Given the description of an element on the screen output the (x, y) to click on. 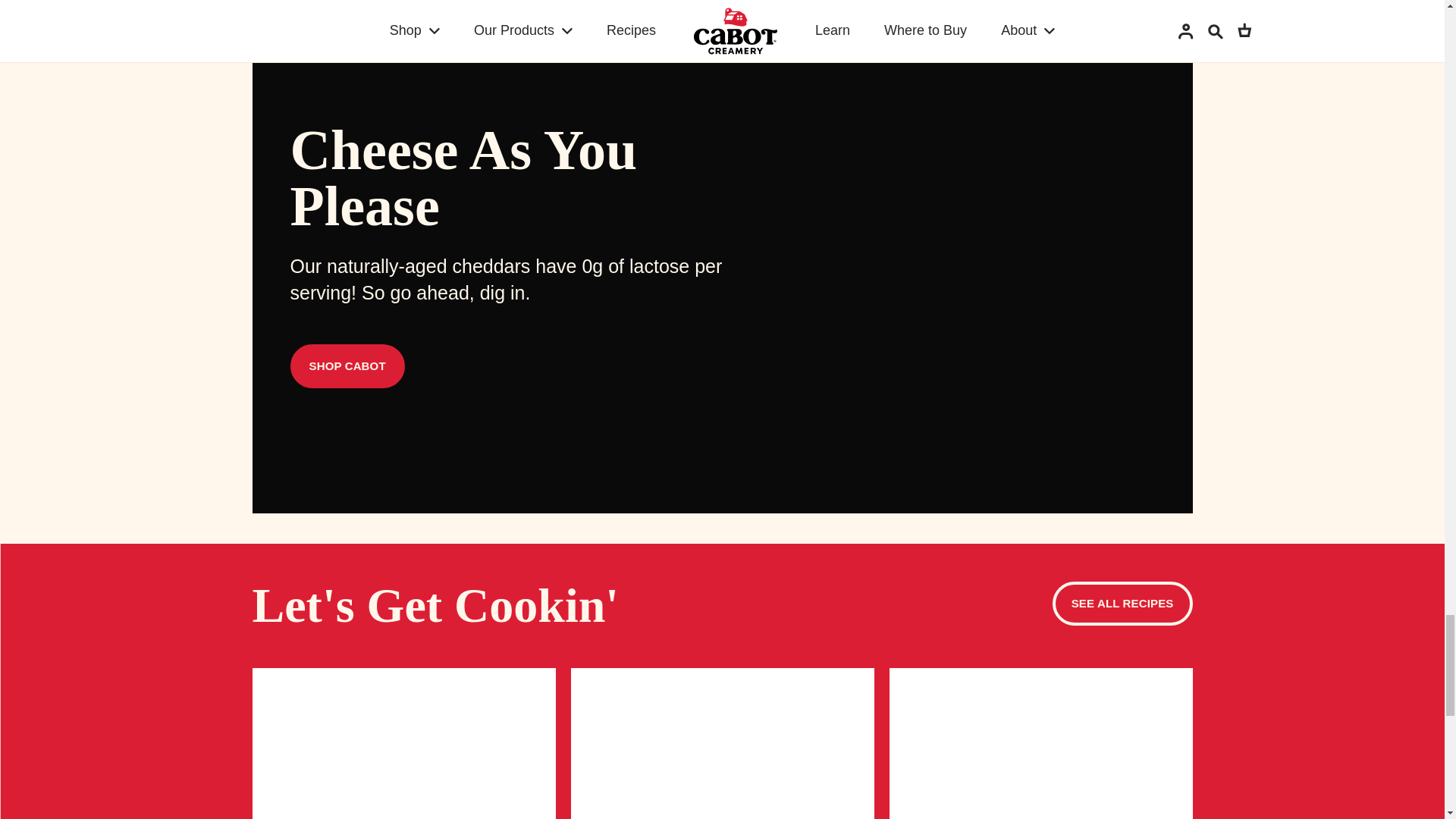
See All Recipes (1122, 603)
